Given the description of an element on the screen output the (x, y) to click on. 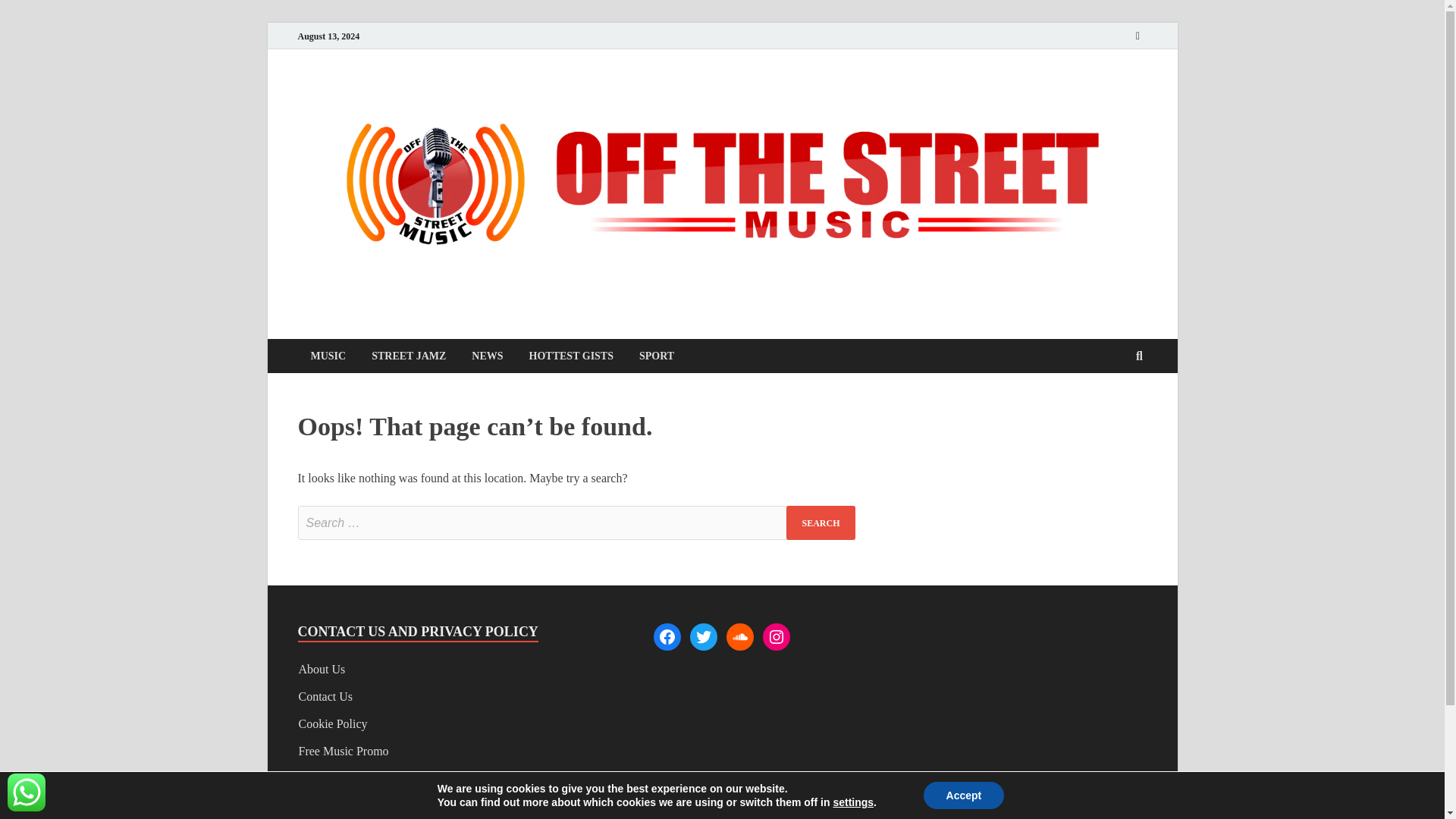
HOTTEST GISTS (571, 356)
Accept (963, 795)
Off the Street Music (427, 329)
Contact Us (325, 696)
About Us (322, 668)
Music Promotion Plans (355, 778)
NEWS (486, 356)
Free Music Promo (343, 750)
STREET JAMZ (408, 356)
settings (852, 802)
